Given the description of an element on the screen output the (x, y) to click on. 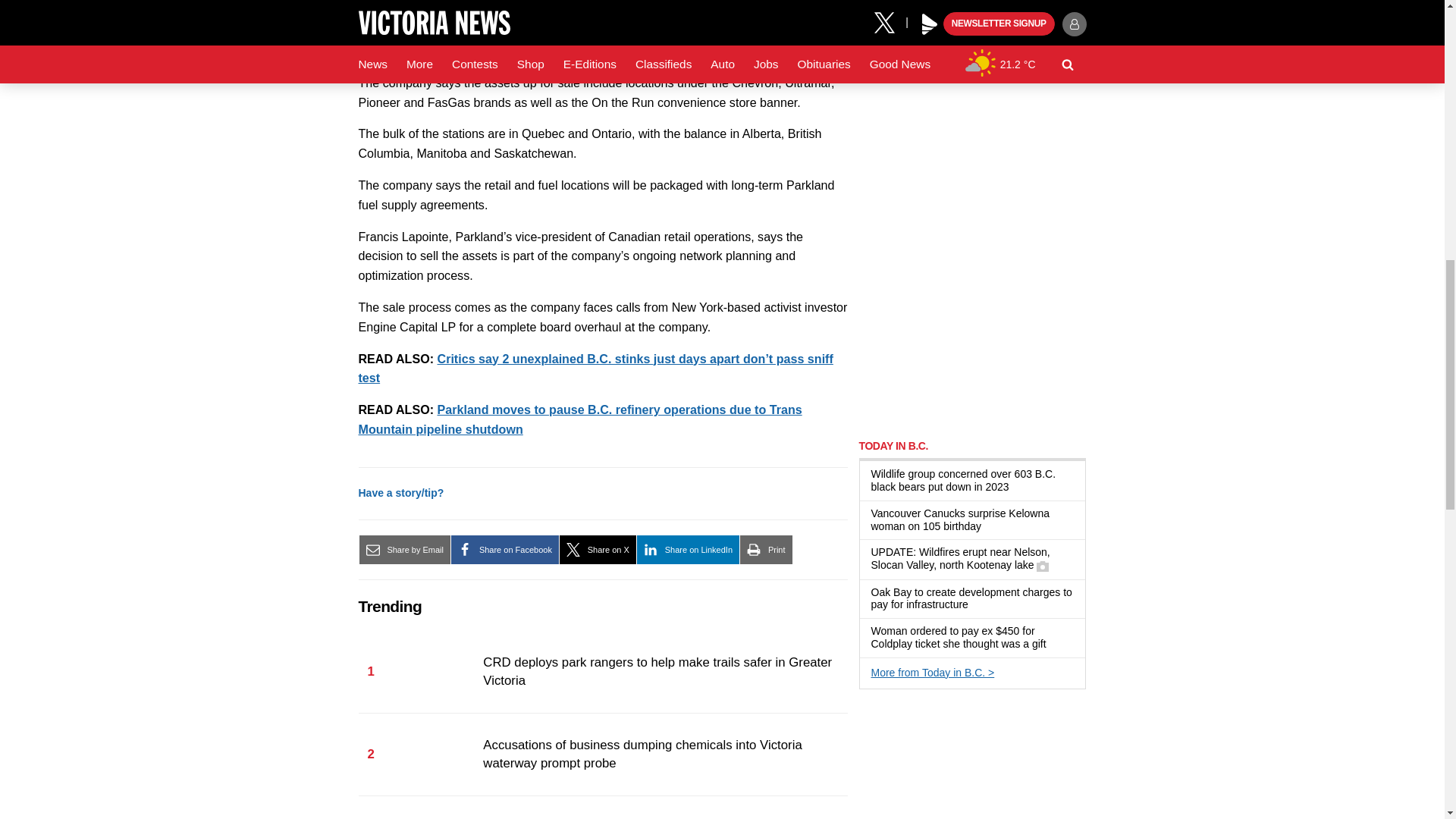
Has a gallery (1042, 566)
related story (580, 418)
related story (595, 368)
